Given the description of an element on the screen output the (x, y) to click on. 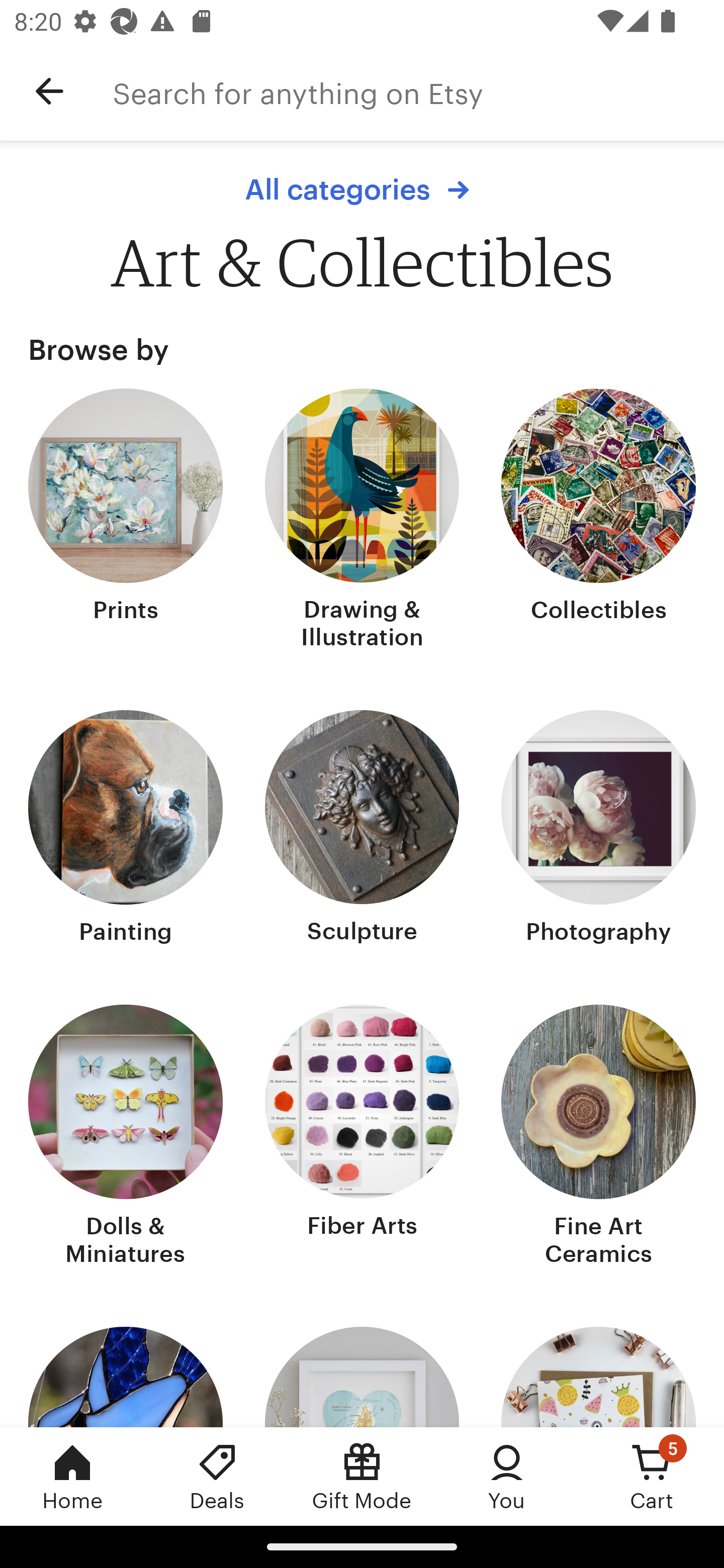
Navigate up (49, 91)
Search for anything on Etsy (418, 91)
All categories (361, 189)
Prints (125, 520)
Drawing & Illustration (361, 520)
Collectibles (598, 520)
Painting (125, 829)
Sculpture (361, 829)
Photography (598, 829)
Dolls & Miniatures (125, 1137)
Fiber Arts (361, 1137)
Fine Art Ceramics (598, 1137)
Deals (216, 1475)
Gift Mode (361, 1475)
You (506, 1475)
Cart, 5 new notifications Cart (651, 1475)
